Given the description of an element on the screen output the (x, y) to click on. 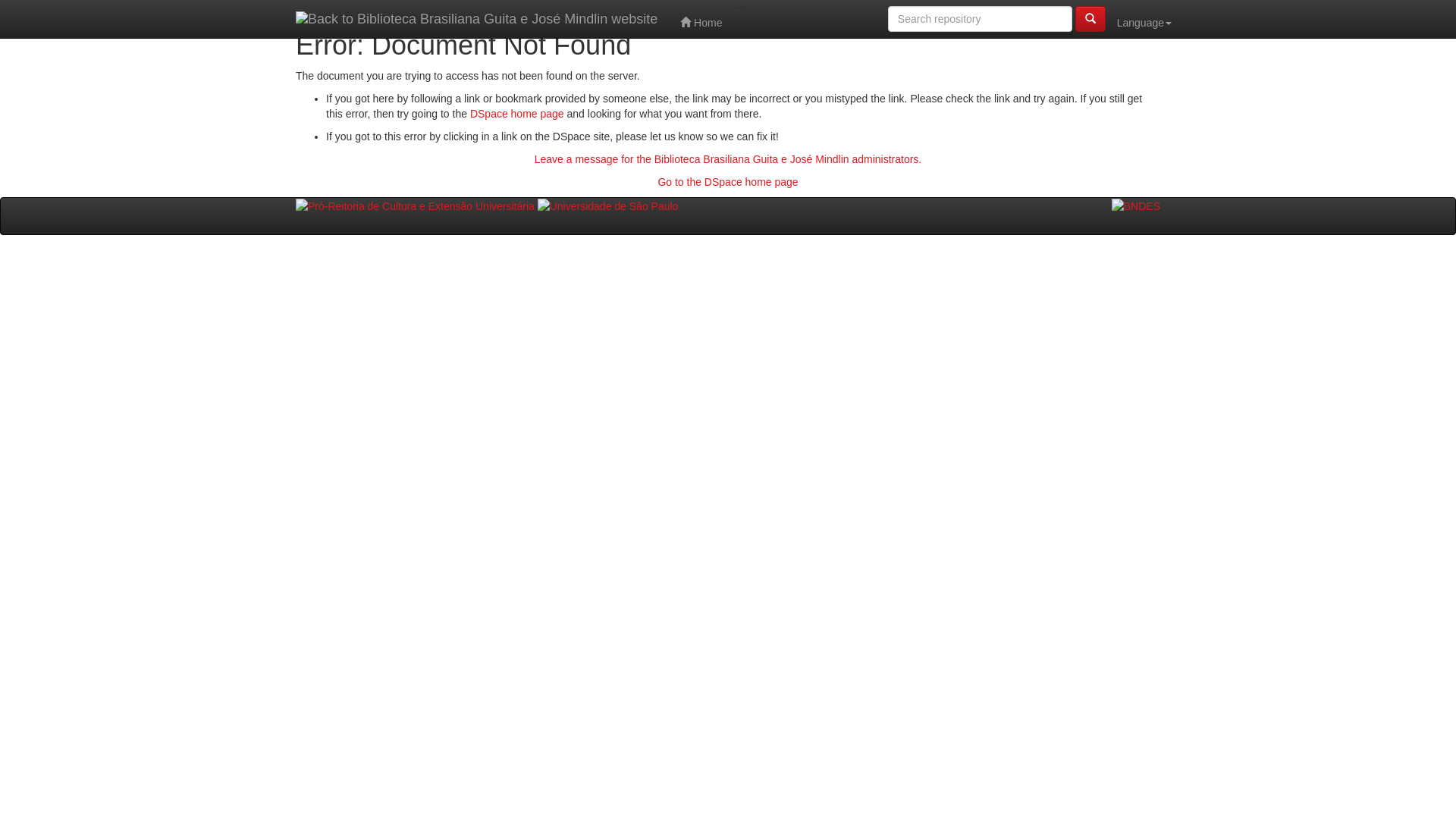
Home Element type: text (700, 18)
DSpace home page Element type: text (517, 113)
Go to the DSpace home page Element type: text (727, 181)
Language Element type: text (1144, 18)
BNDES Element type: hover (1135, 205)
